Given the description of an element on the screen output the (x, y) to click on. 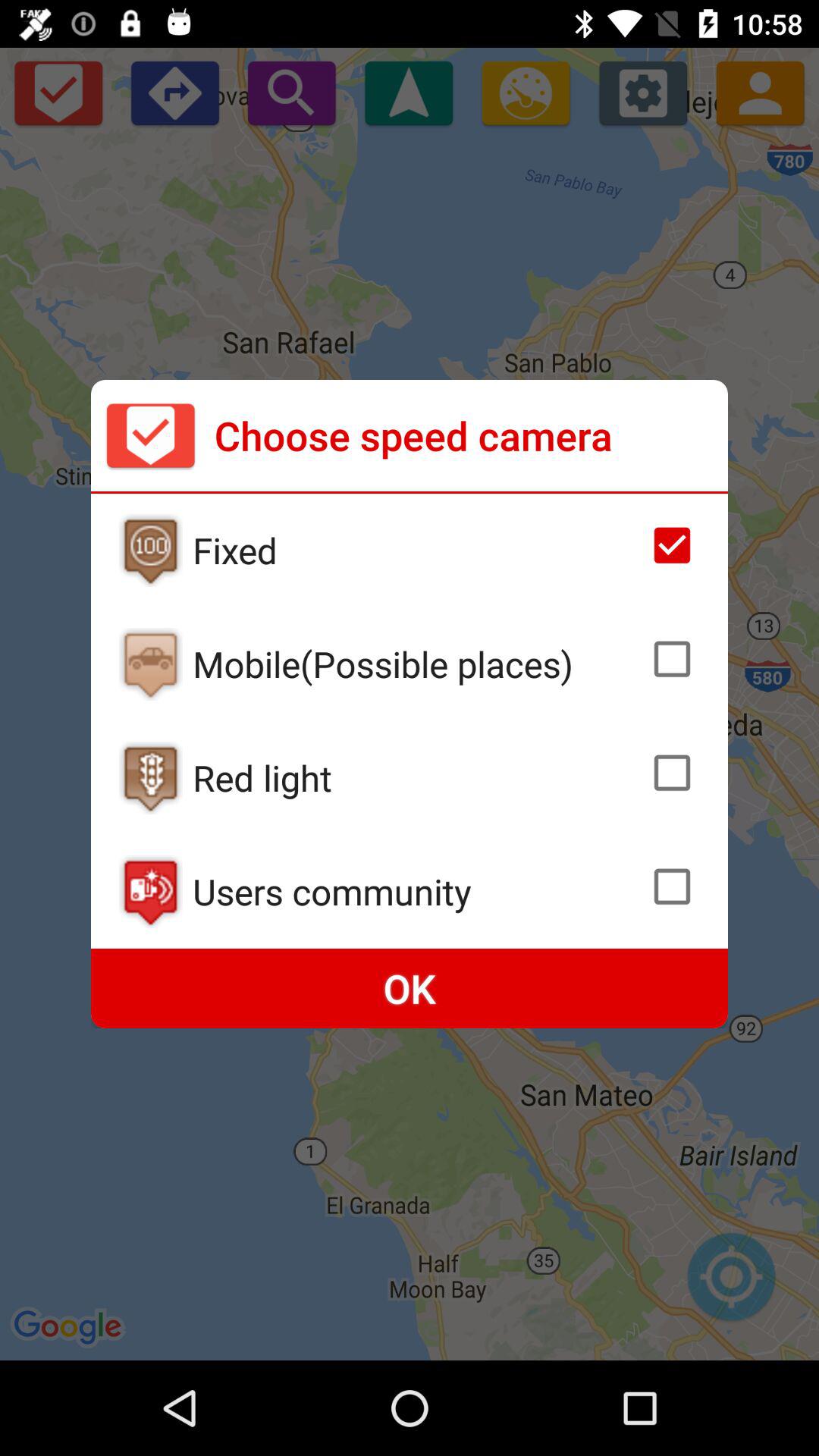
swipe until red light icon (416, 777)
